Given the description of an element on the screen output the (x, y) to click on. 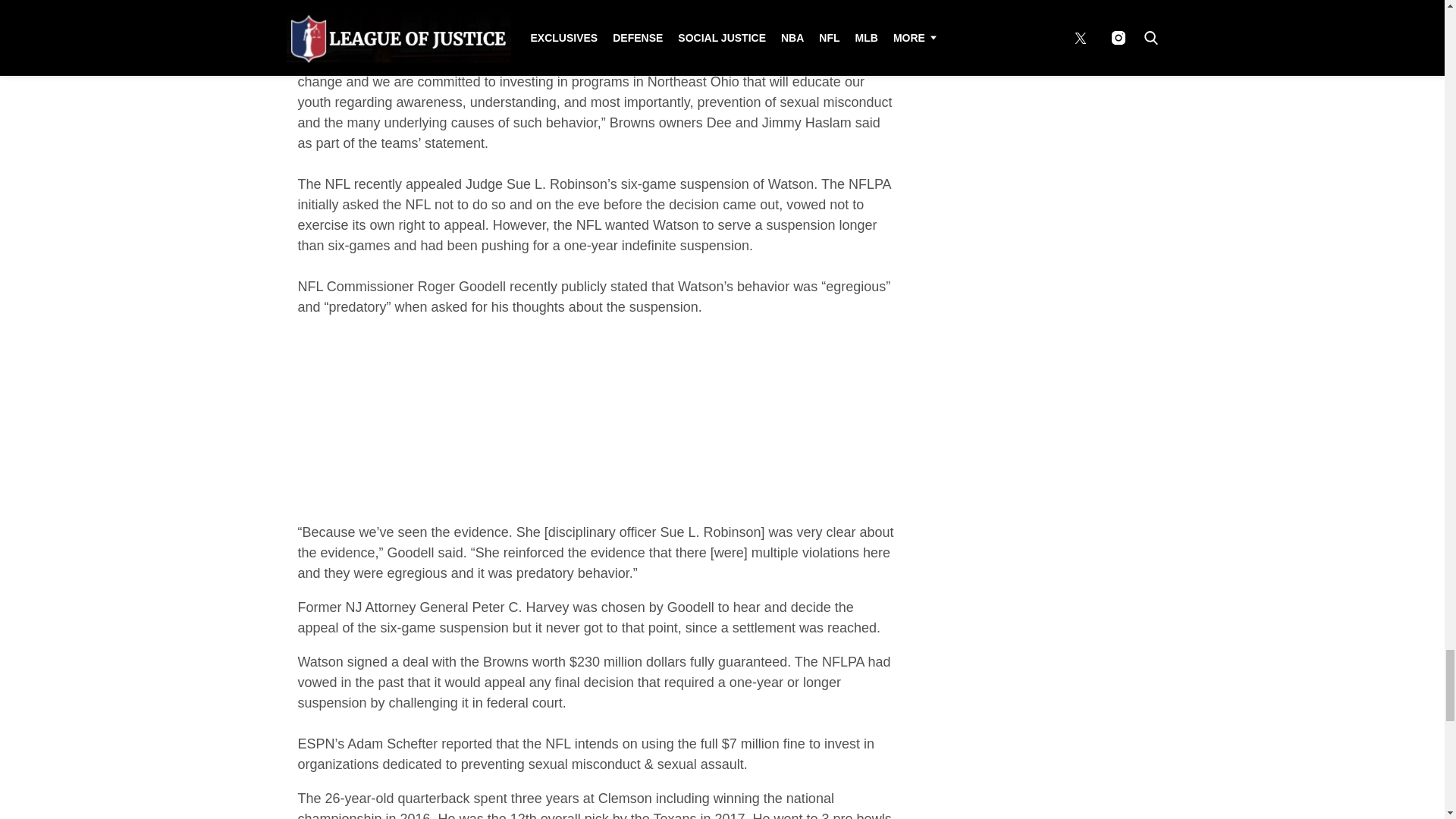
3rd party ad content (595, 426)
